Given the description of an element on the screen output the (x, y) to click on. 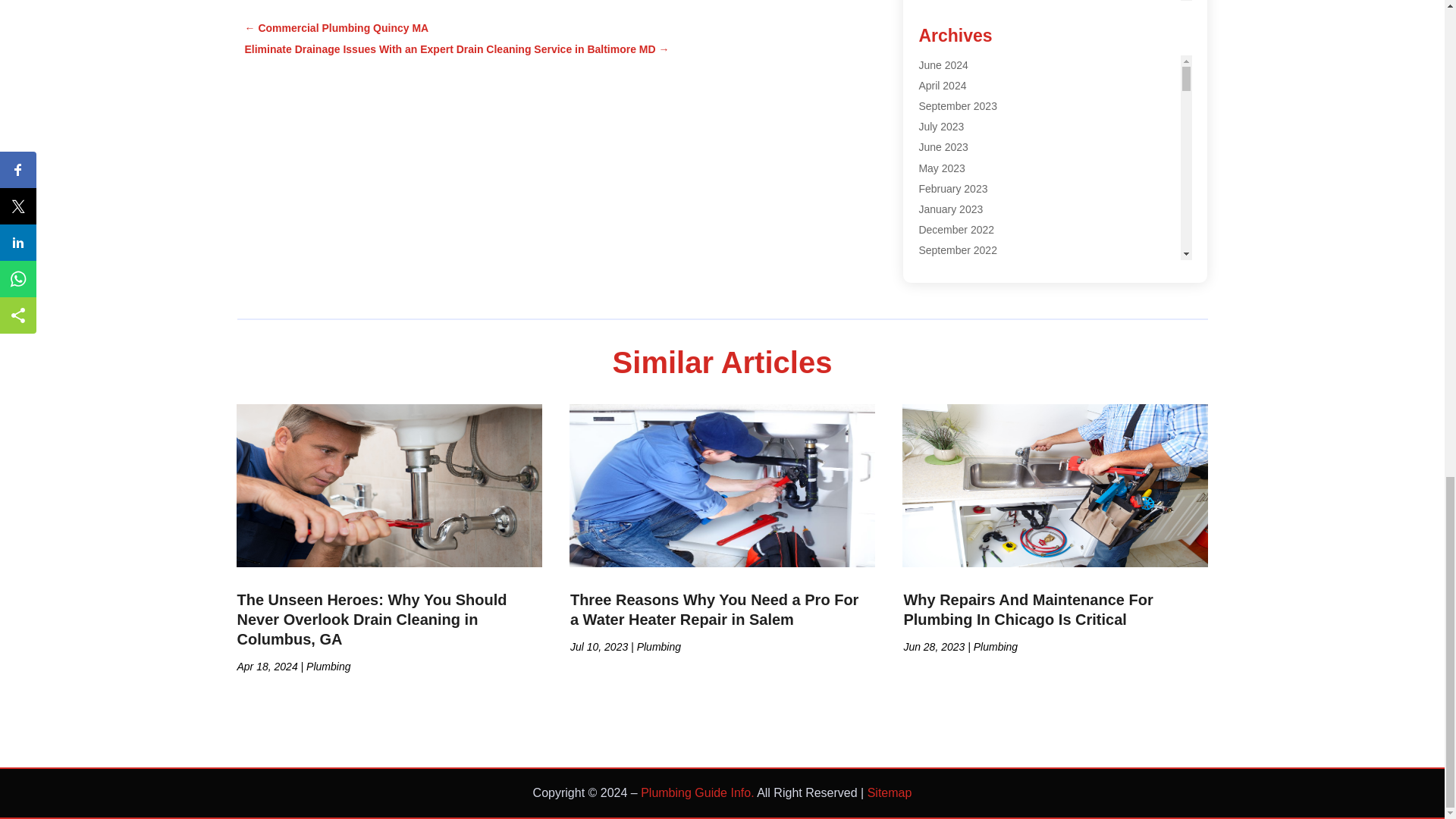
Plumbing Accessories (970, 52)
Plumbing Guide (956, 73)
Plumbing (940, 32)
Plumber (938, 10)
